Given the description of an element on the screen output the (x, y) to click on. 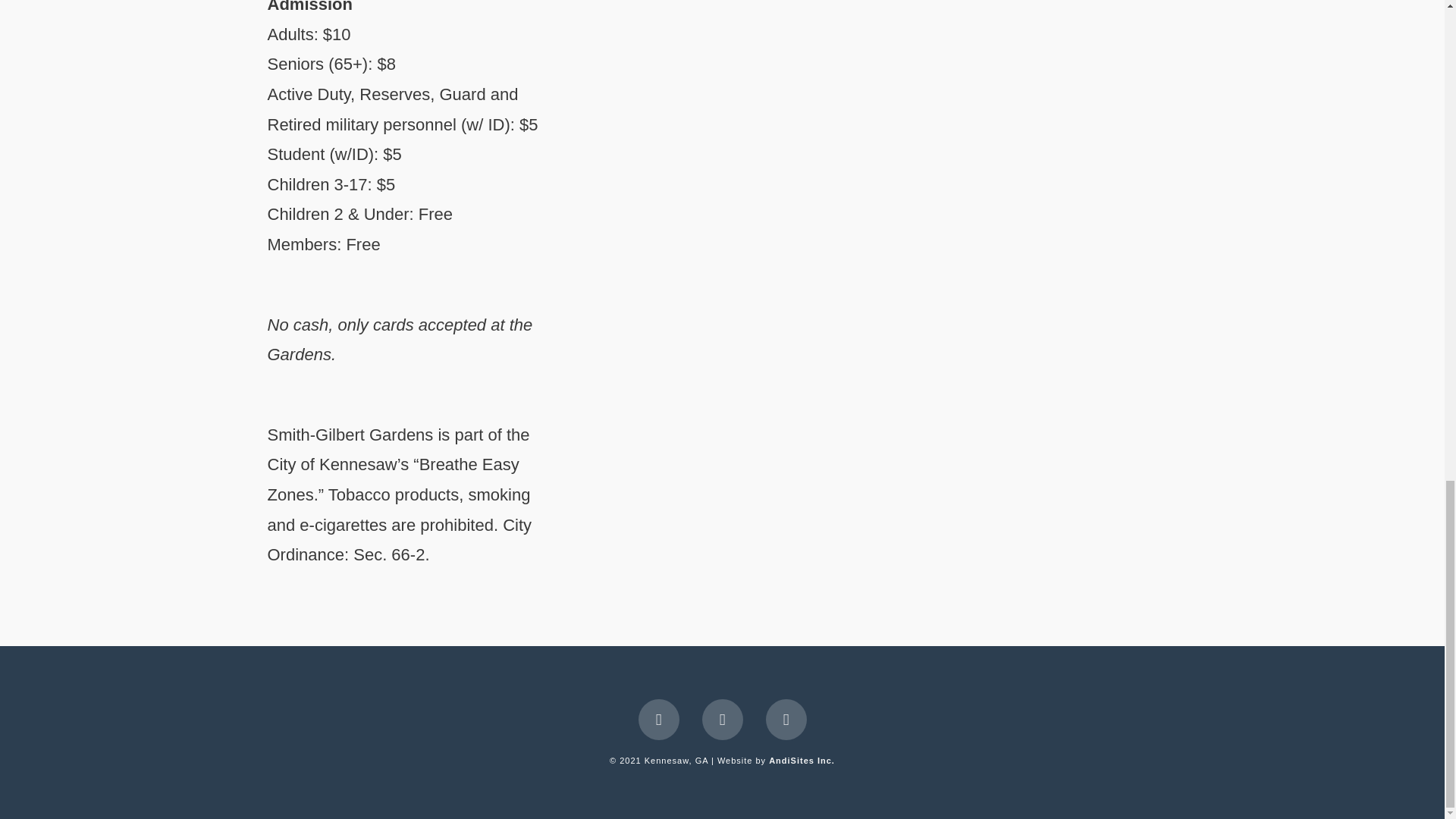
Facebook (659, 719)
YouTube (721, 719)
Instagram (785, 719)
